Given the description of an element on the screen output the (x, y) to click on. 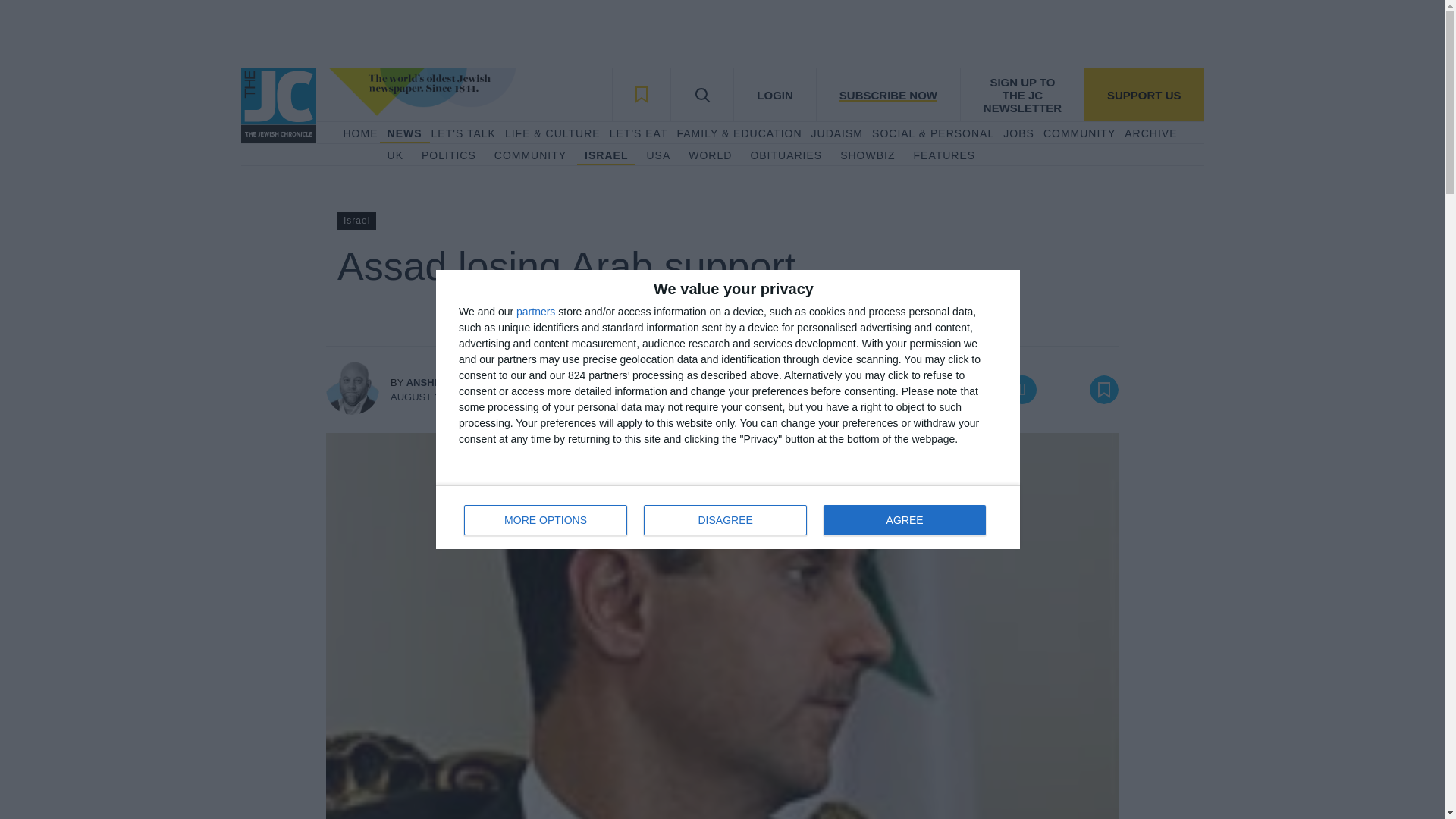
FEATURES (944, 155)
SHOWBIZ (867, 155)
OBITUARIES (785, 155)
WORLD (710, 155)
LET'S TALK (463, 133)
DISAGREE (724, 520)
POLITICS (449, 155)
JUDAISM (836, 133)
ARCHIVE (1150, 133)
SIGN UP TO THE JC NEWSLETTER (1021, 94)
SUBSCRIBE NOW (727, 516)
COMMUNITY (887, 94)
MORE OPTIONS (1079, 133)
JOBS (545, 520)
